Given the description of an element on the screen output the (x, y) to click on. 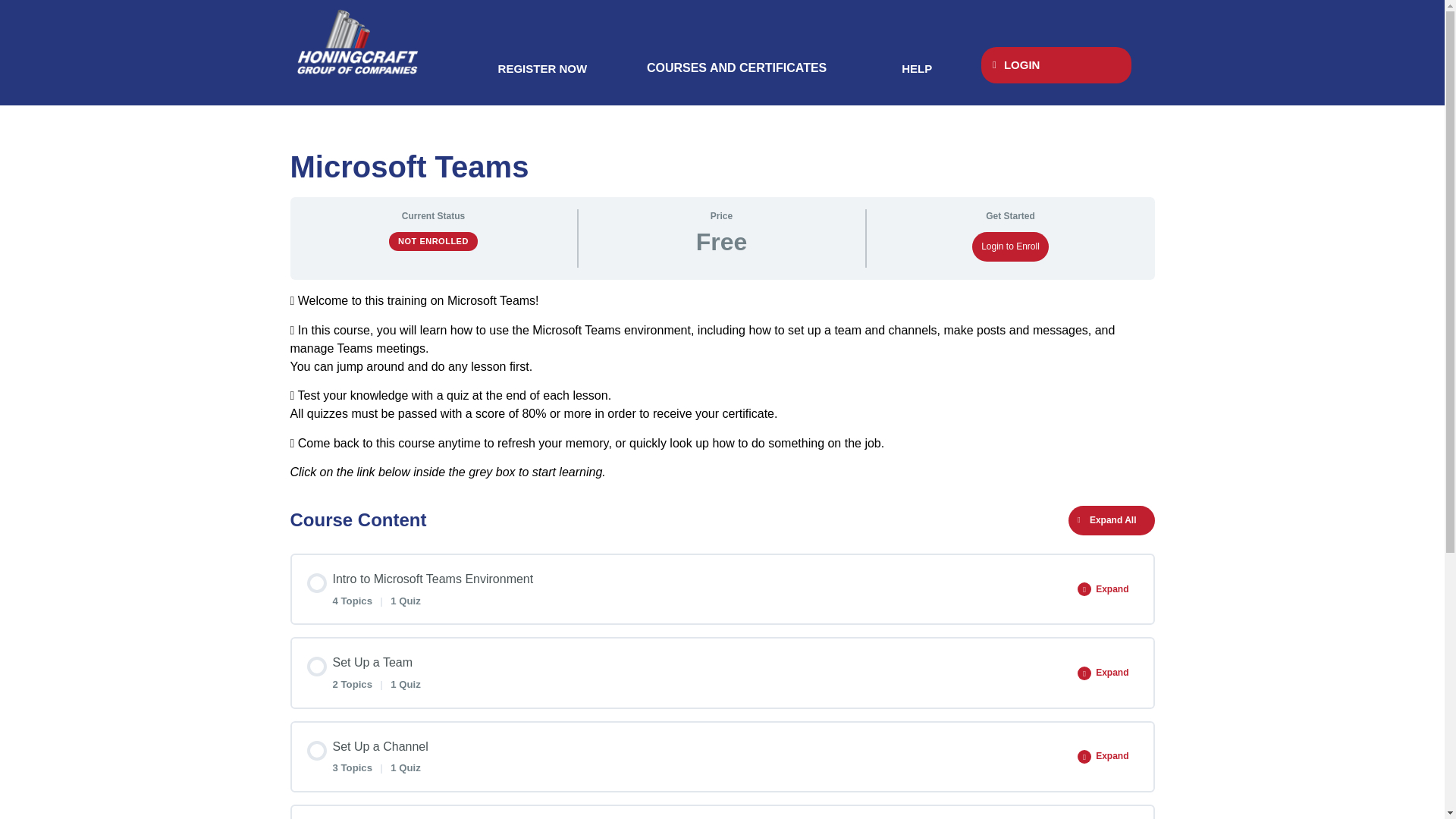
REGISTER NOW (542, 68)
LOGIN (1056, 65)
Login to Enroll (1010, 246)
HELP (916, 68)
COURSES AND CERTIFICATES (736, 68)
